Given the description of an element on the screen output the (x, y) to click on. 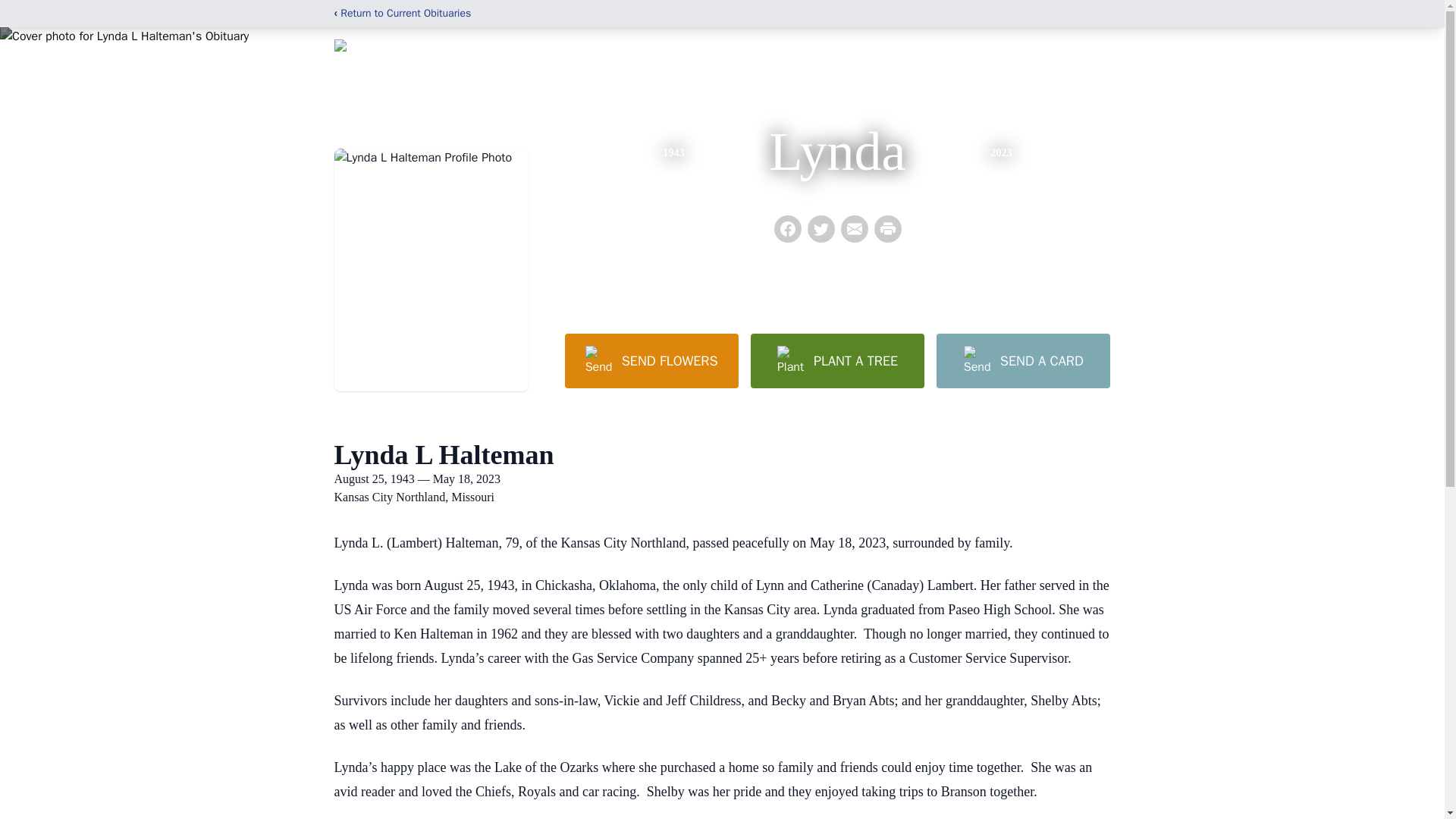
PLANT A TREE (837, 360)
SEND A CARD (1022, 360)
SEND FLOWERS (651, 360)
